Given the description of an element on the screen output the (x, y) to click on. 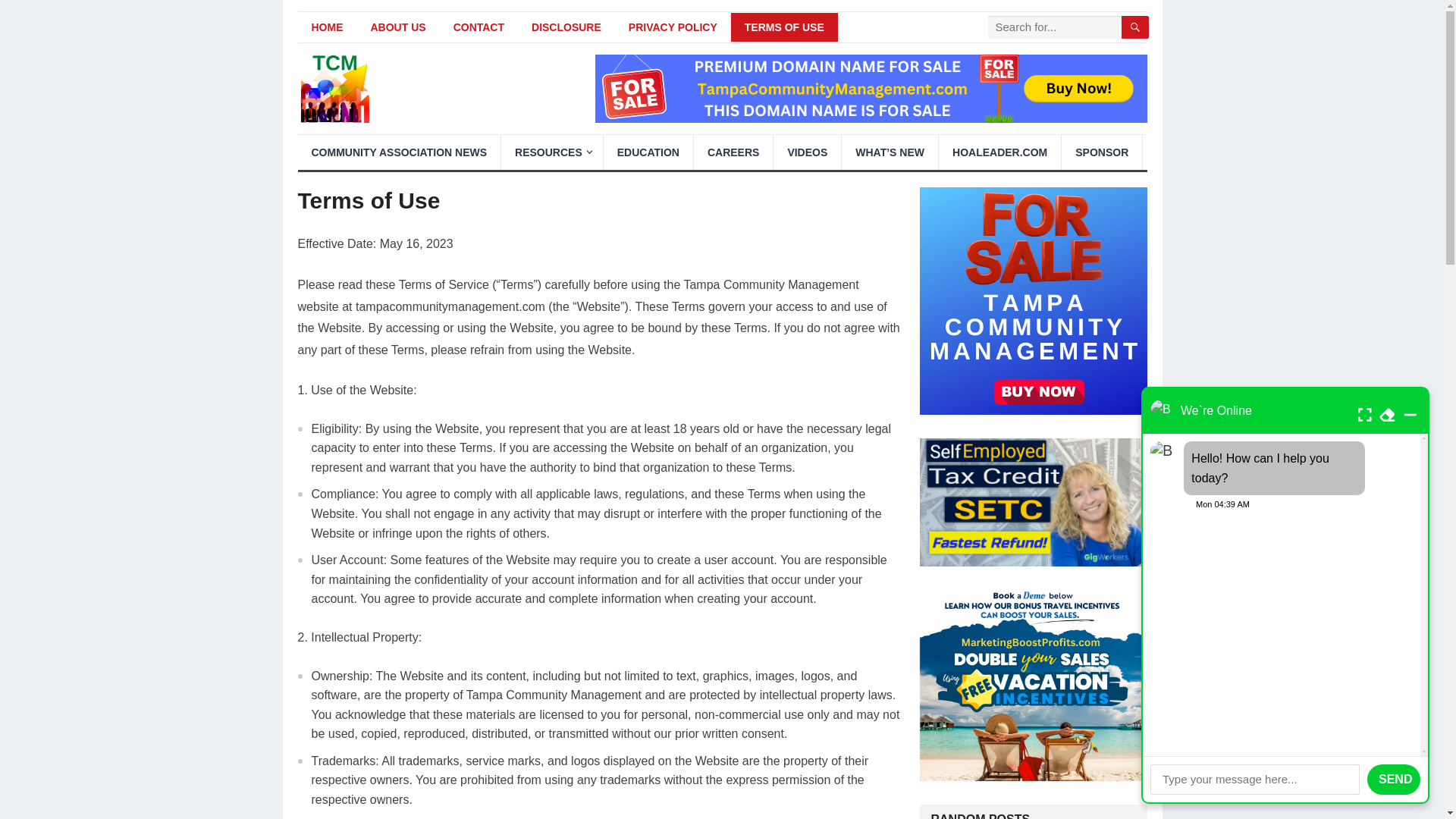
SEND (1394, 779)
RESOURCES (551, 152)
DISCLOSURE (566, 27)
EDUCATION (648, 152)
SPONSOR (1101, 152)
VIDEOS (807, 152)
ABOUT US (397, 27)
HOME (326, 27)
TERMS OF USE (784, 27)
COMMUNITY ASSOCIATION NEWS (398, 152)
